Given the description of an element on the screen output the (x, y) to click on. 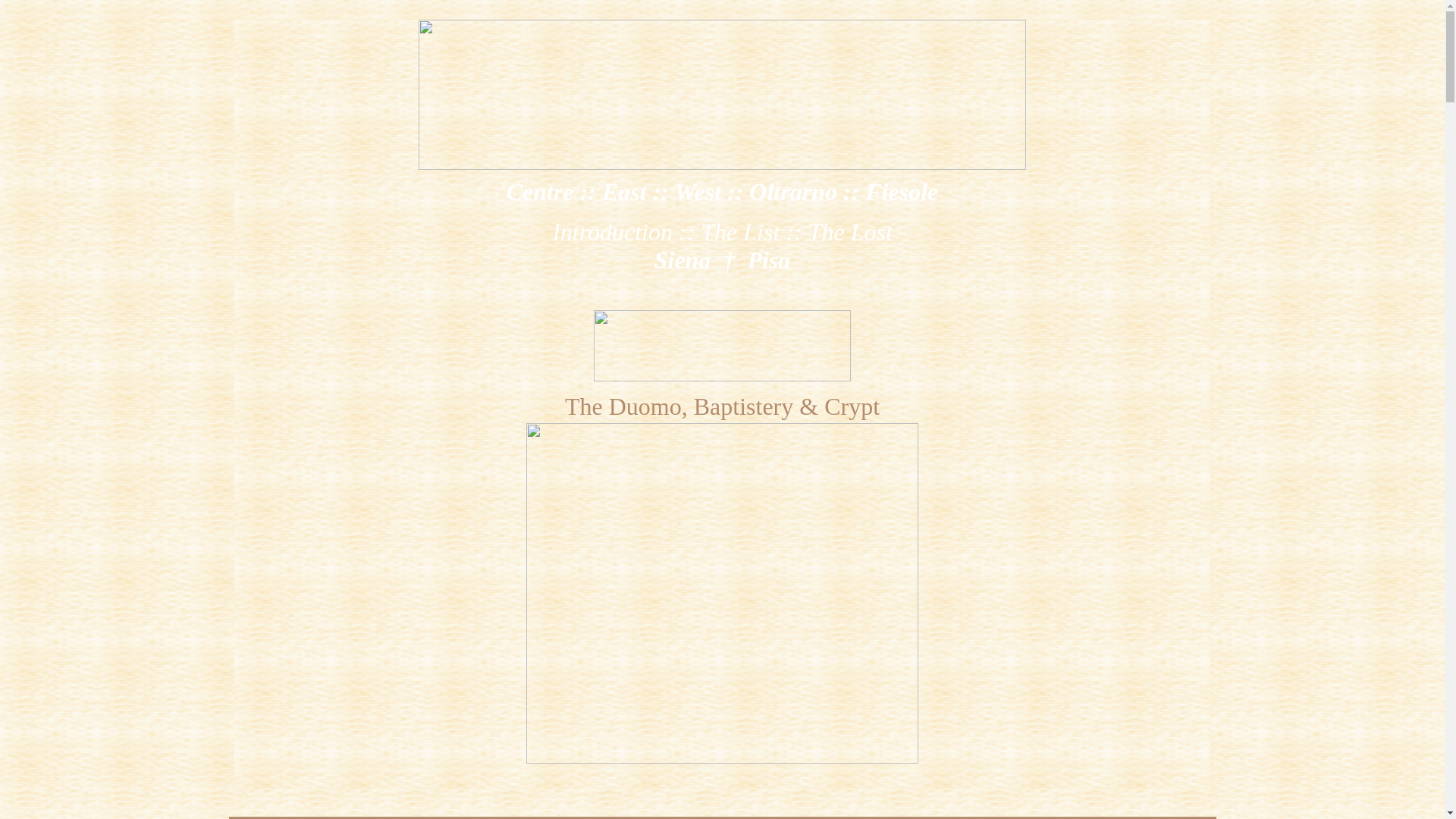
Oltrarno (793, 191)
Fiesole (900, 191)
East (624, 191)
West (697, 191)
Centre (539, 191)
Siena (682, 259)
Introduction (611, 231)
The List (739, 231)
The Lost (850, 231)
Pisa (768, 259)
